Given the description of an element on the screen output the (x, y) to click on. 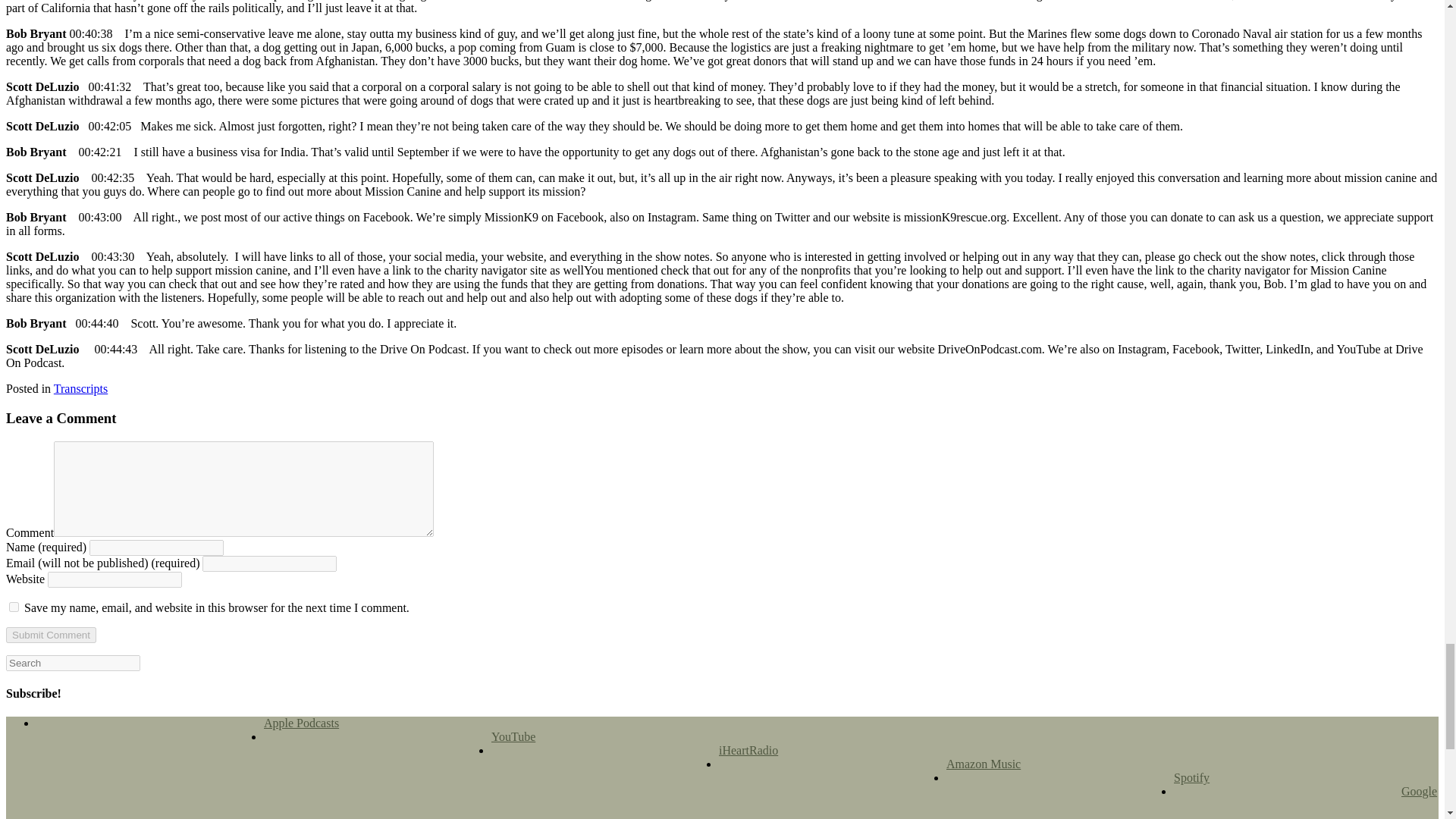
Submit Comment (50, 634)
Submit Comment (50, 634)
Transcripts (80, 388)
yes (13, 606)
